Given the description of an element on the screen output the (x, y) to click on. 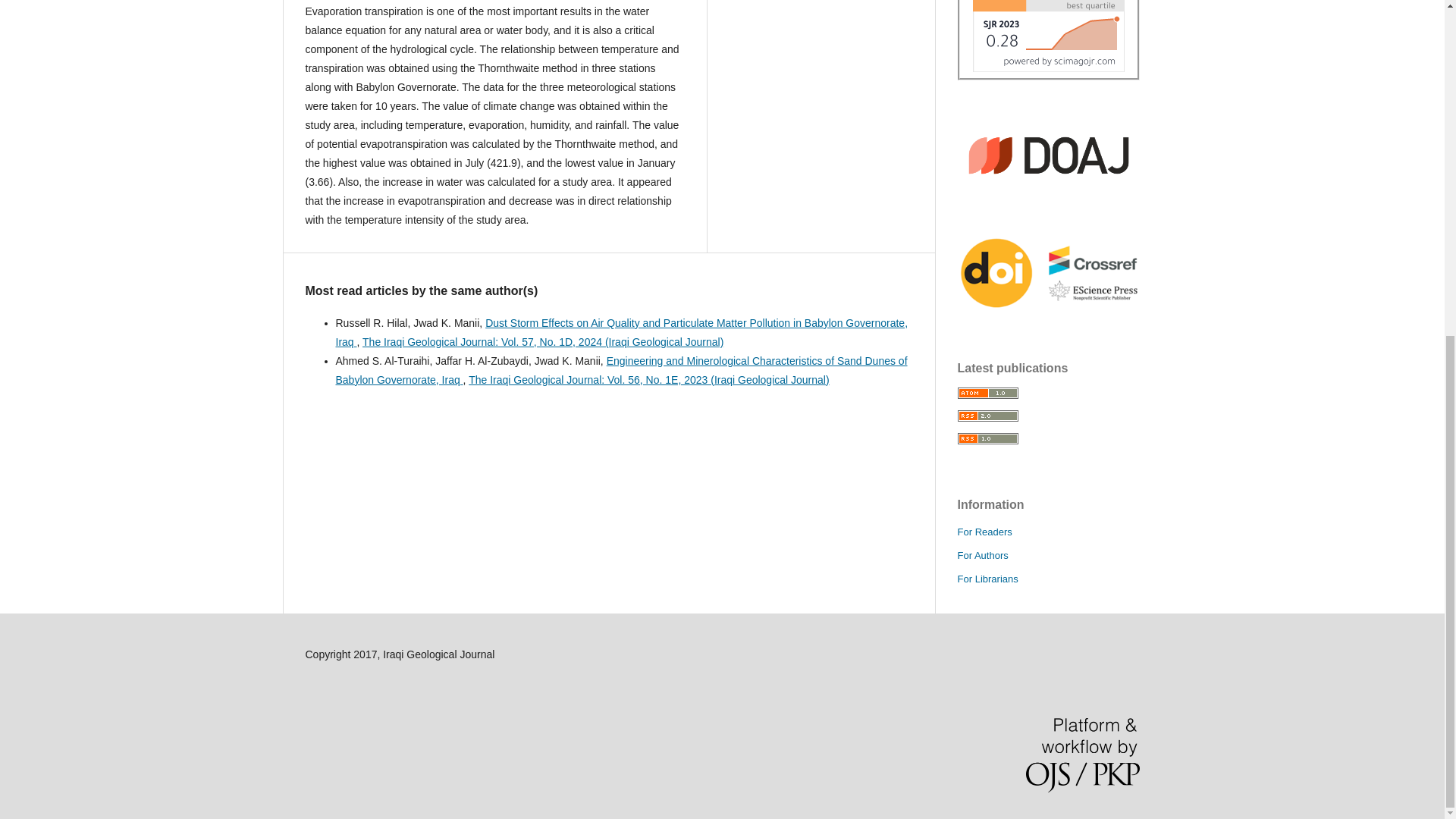
For Librarians (986, 578)
For Authors (981, 555)
For Readers (983, 531)
